Given the description of an element on the screen output the (x, y) to click on. 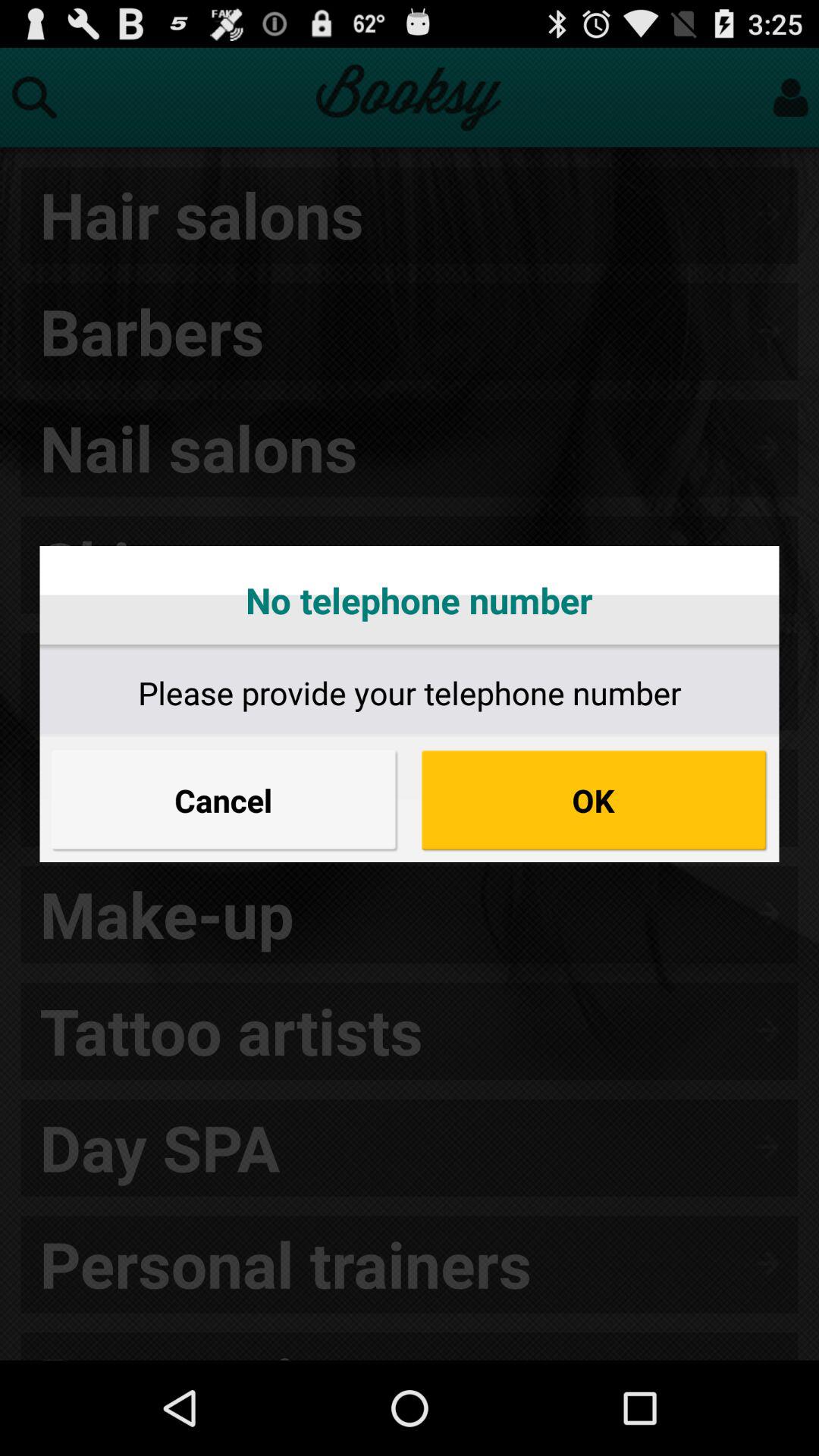
click item below the please provide your (224, 799)
